Given the description of an element on the screen output the (x, y) to click on. 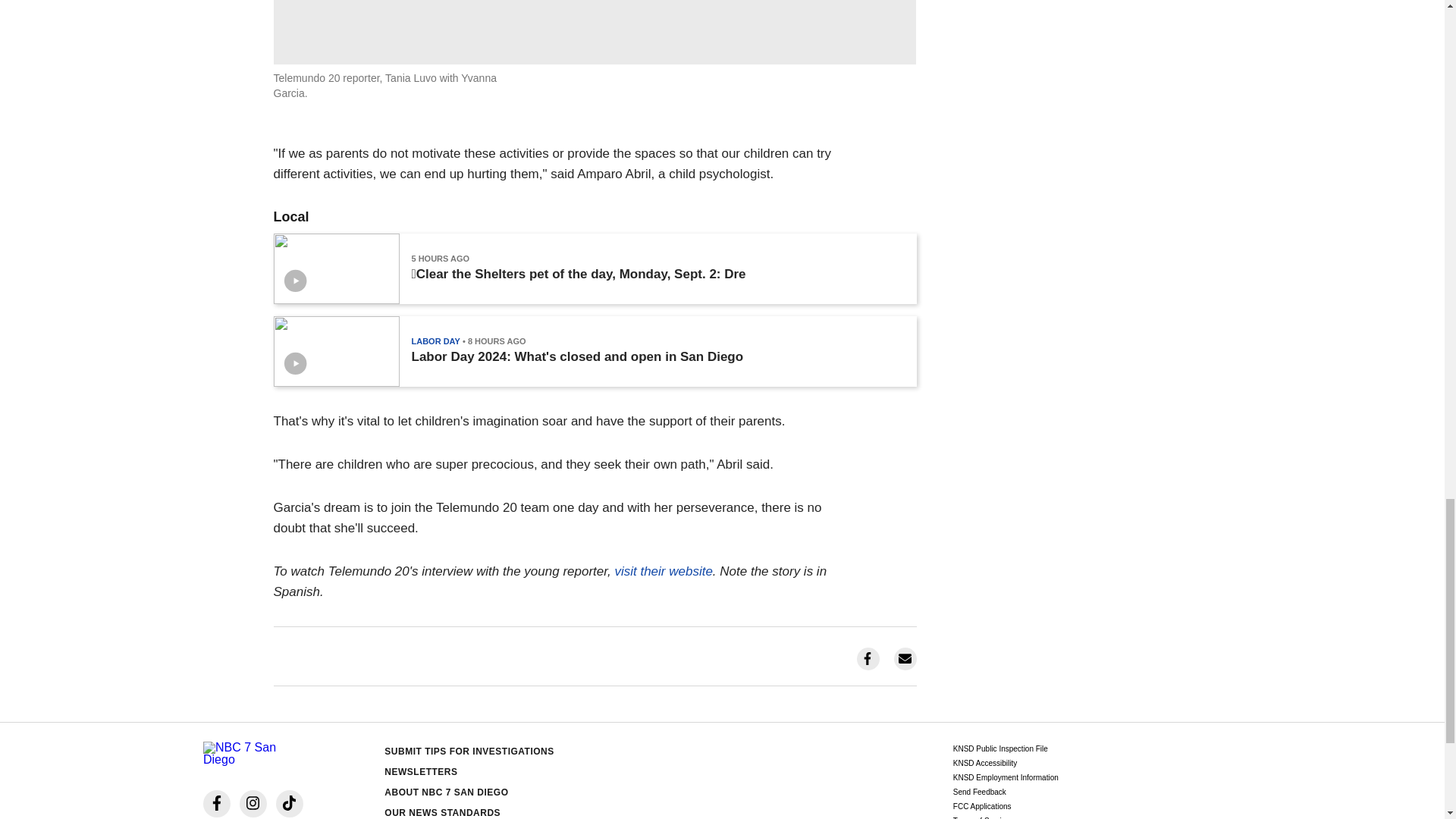
Labor Day 2024: What's closed and open in San Diego (576, 356)
visit their website (662, 571)
LABOR DAY (435, 340)
